Given the description of an element on the screen output the (x, y) to click on. 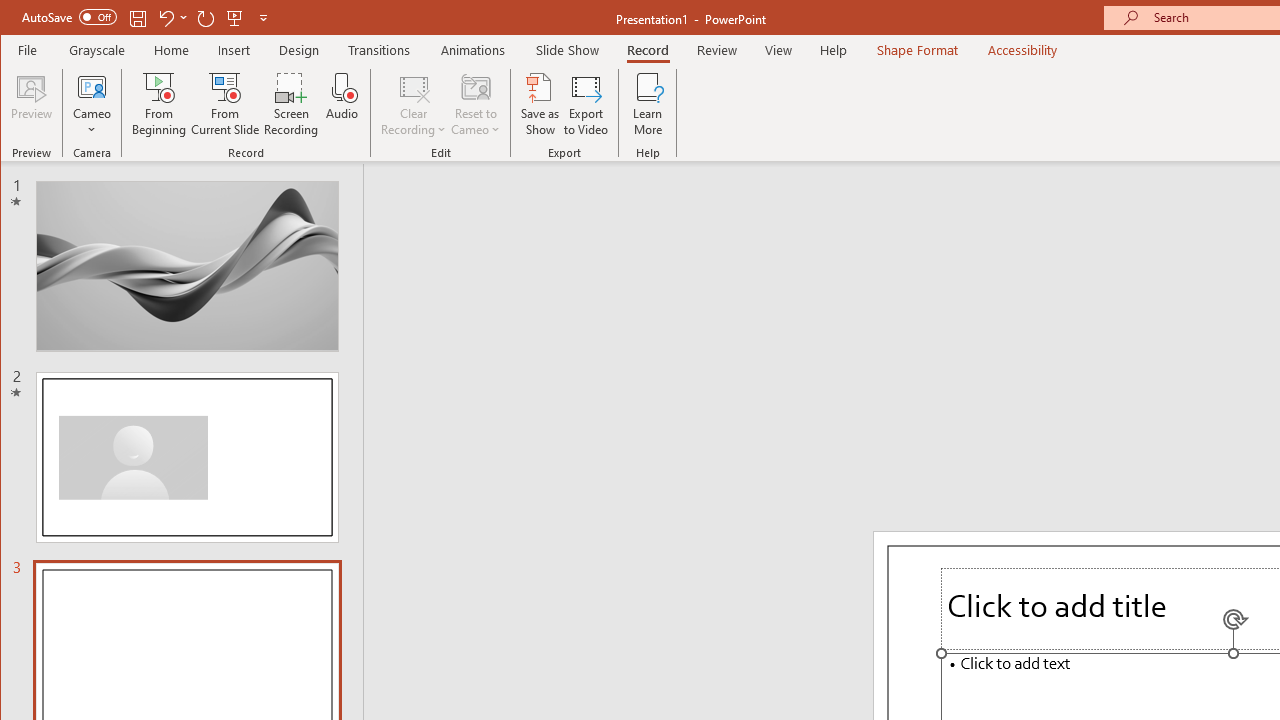
Reset to Cameo (476, 104)
From Beginning... (159, 104)
